Given the description of an element on the screen output the (x, y) to click on. 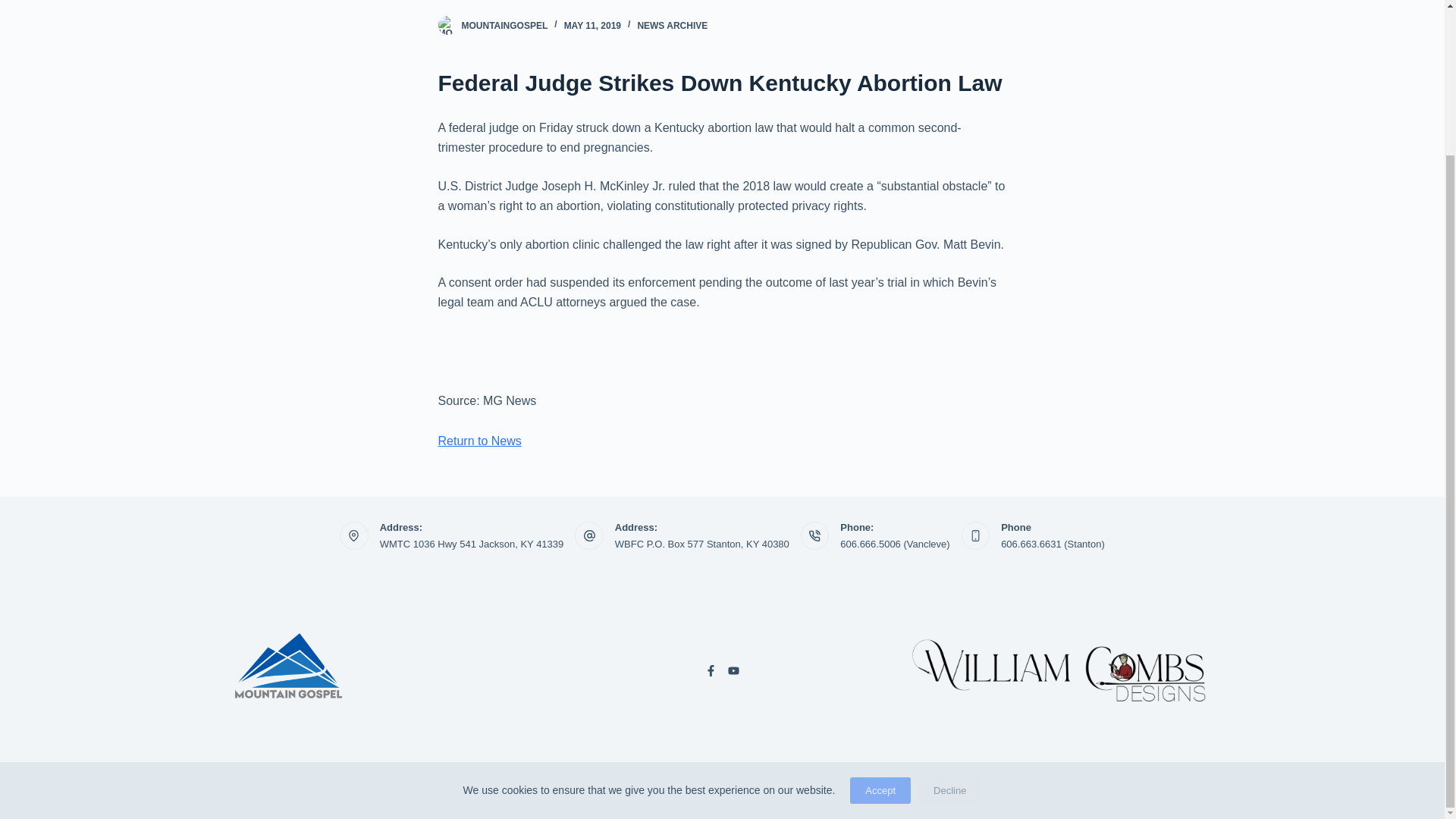
Accept (880, 609)
Posts by mountaingospel (504, 25)
Return to News (479, 440)
Decline (949, 609)
NEWS ARCHIVE (672, 25)
MOUNTAINGOSPEL (504, 25)
